Given the description of an element on the screen output the (x, y) to click on. 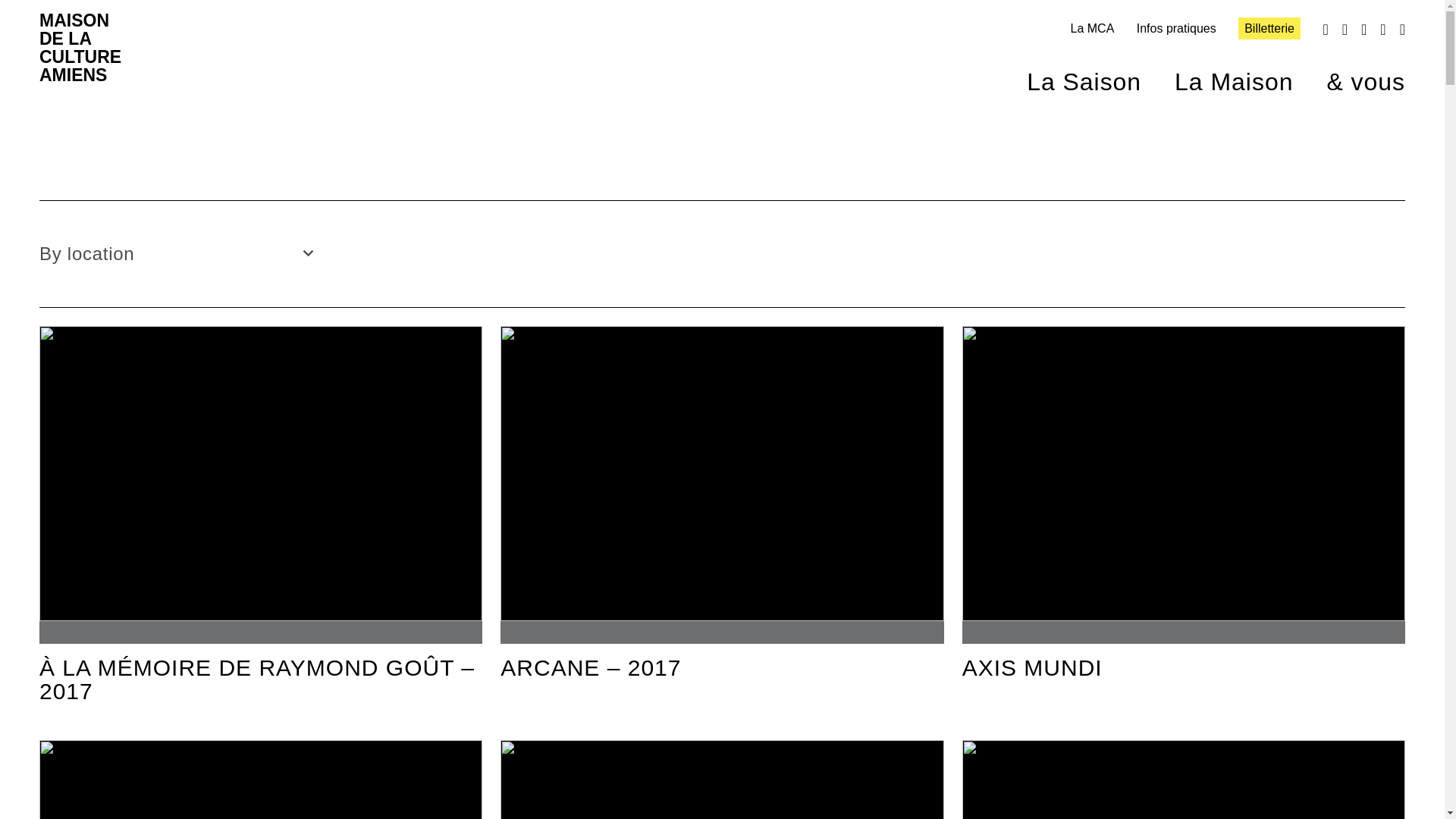
Billetterie (1269, 28)
Infos pratiques (1176, 28)
La Saison (1066, 73)
La MCA (1092, 28)
La Maison (1216, 73)
